Given the description of an element on the screen output the (x, y) to click on. 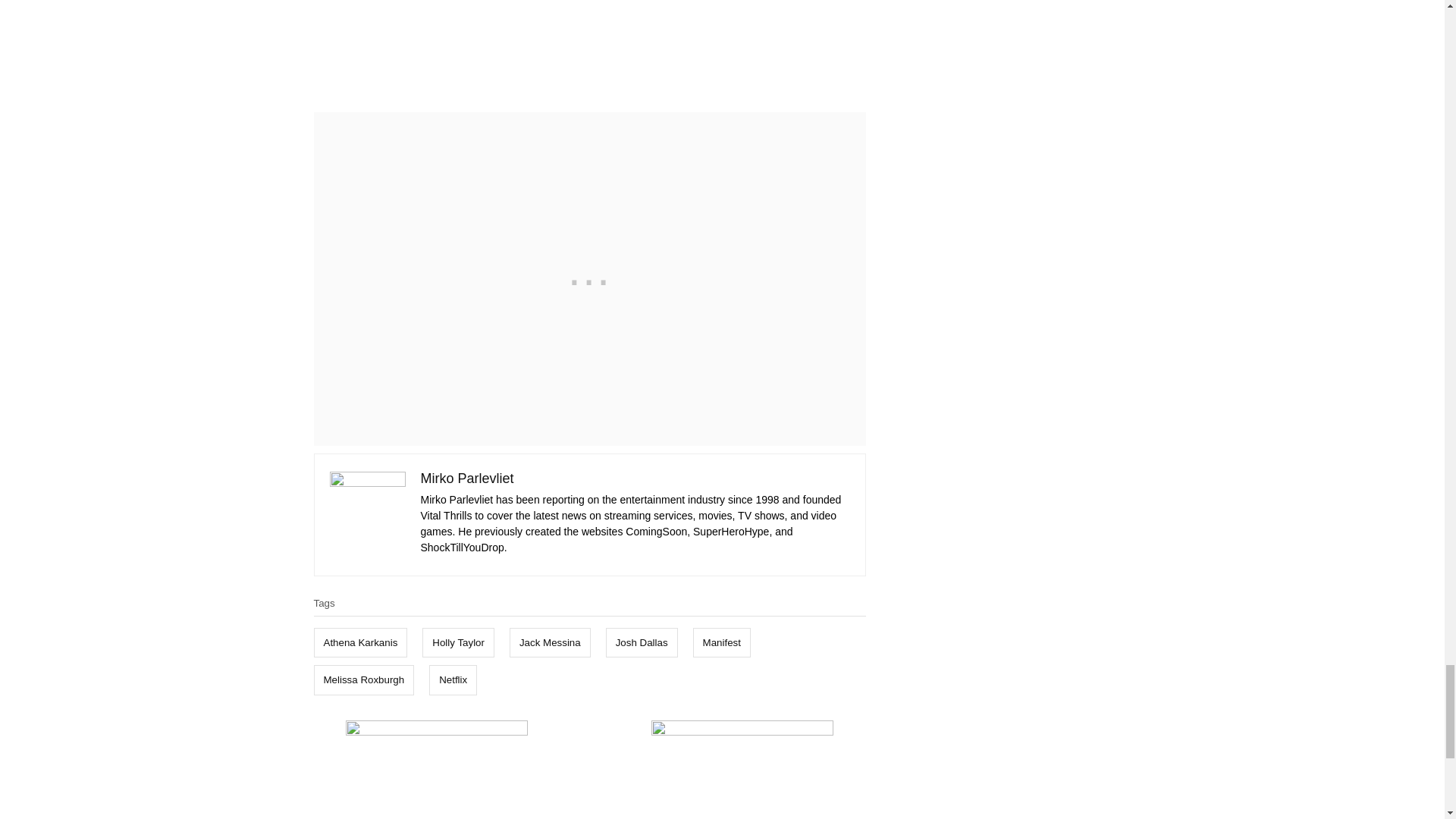
Josh Dallas (641, 643)
Melissa Roxburgh (364, 680)
Manifest (722, 643)
Netflix (453, 680)
Jack Messina (550, 643)
Mirko Parlevliet (466, 478)
Athena Karkanis (360, 643)
Holly Taylor (458, 643)
